Given the description of an element on the screen output the (x, y) to click on. 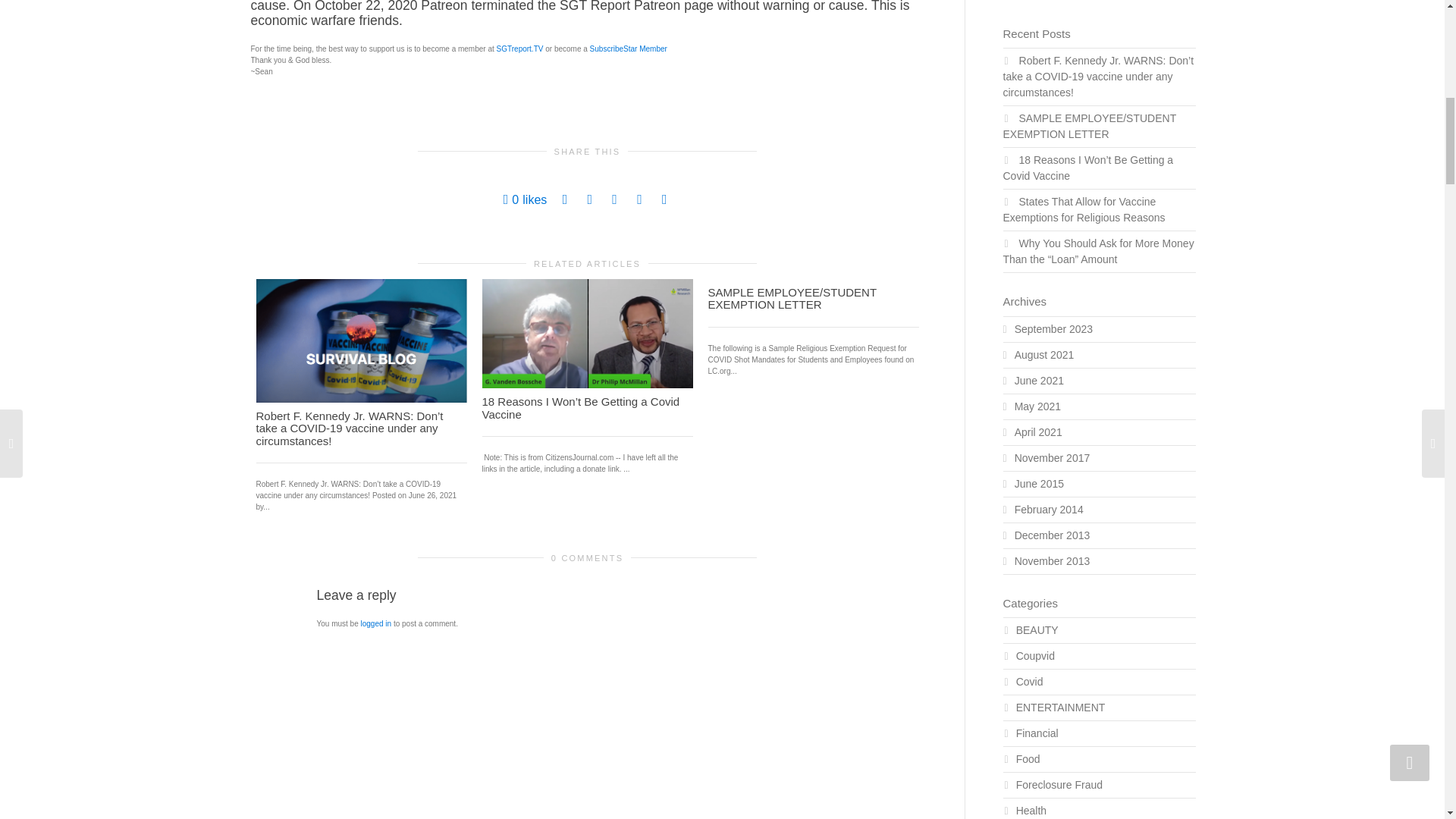
SGTreport.TV (519, 49)
0 likes (525, 199)
SubscribeStar Member (627, 49)
